Given the description of an element on the screen output the (x, y) to click on. 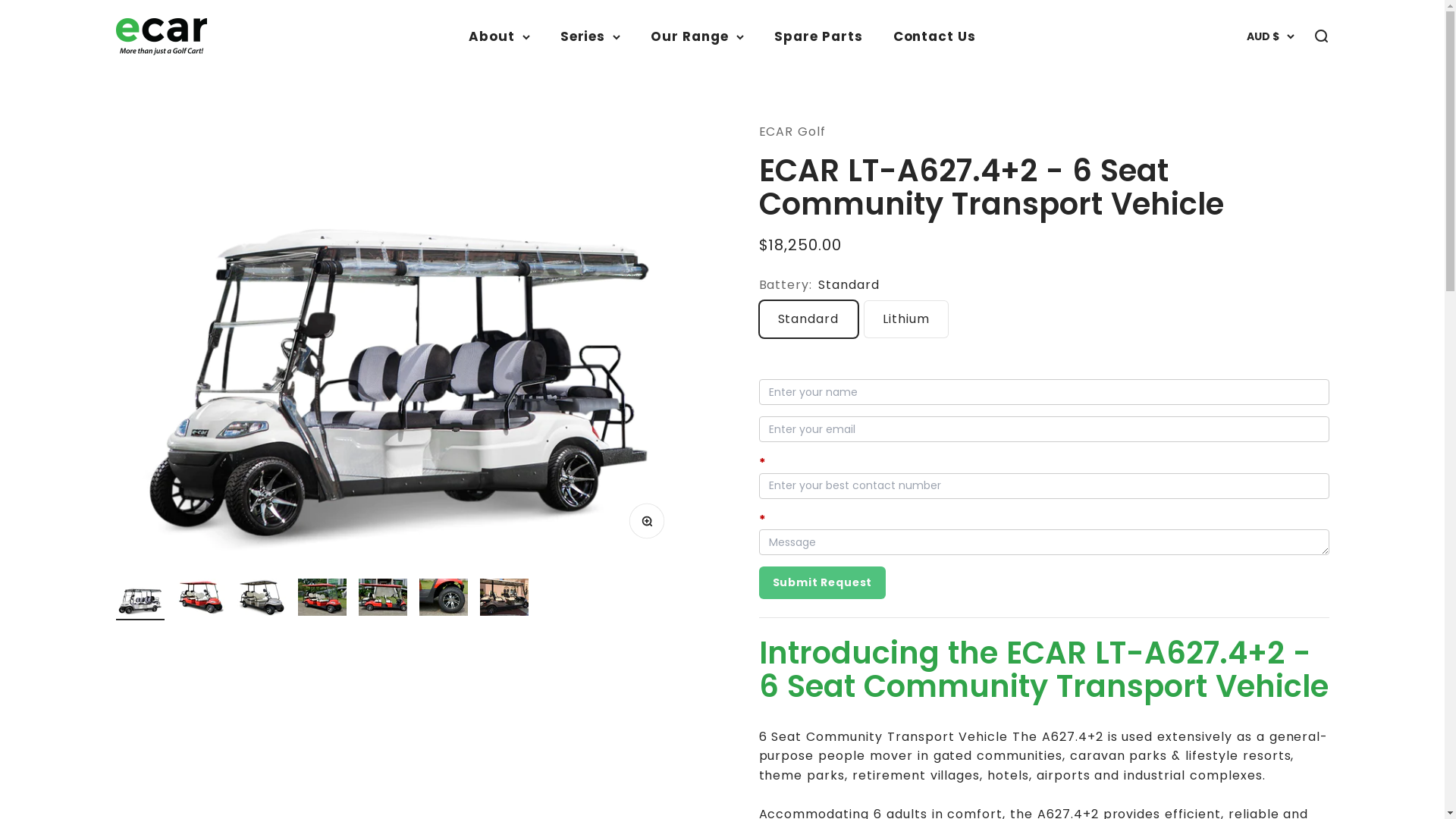
Contact Us Element type: text (934, 36)
Zoom Element type: text (650, 525)
ECAR Golf Element type: text (160, 36)
Open search Element type: text (1319, 36)
Submit Request Element type: text (821, 582)
AUD $ Element type: text (1270, 36)
ECAR Golf Element type: text (791, 131)
Spare Parts Element type: text (818, 36)
